Given the description of an element on the screen output the (x, y) to click on. 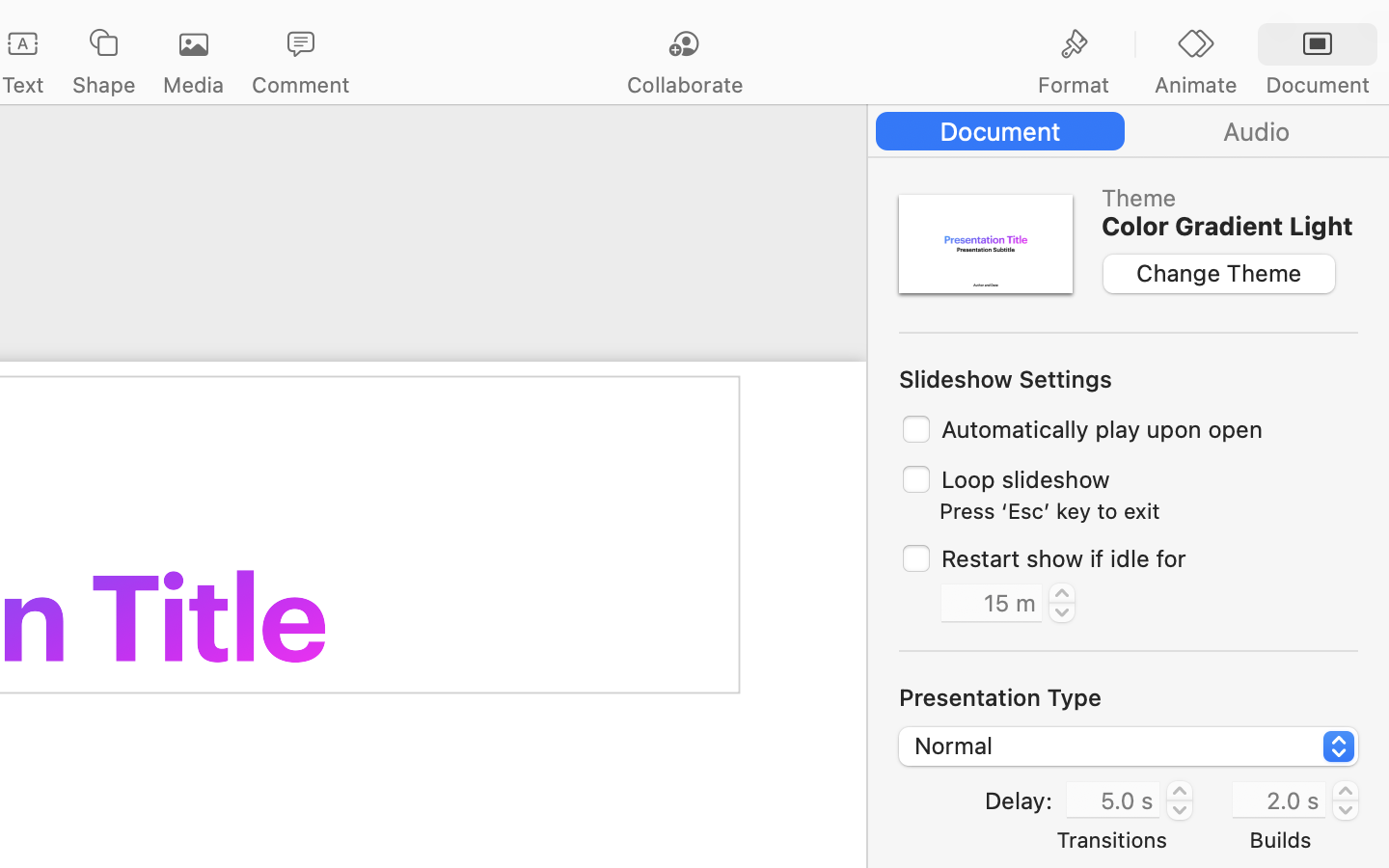
Press ‘Esc’ key to exit Element type: AXStaticText (1049, 510)
Builds Element type: AXStaticText (1280, 838)
Format Element type: AXStaticText (1073, 84)
2.0 Element type: AXIncrementor (1345, 800)
Normal Element type: AXPopUpButton (1129, 749)
